Given the description of an element on the screen output the (x, y) to click on. 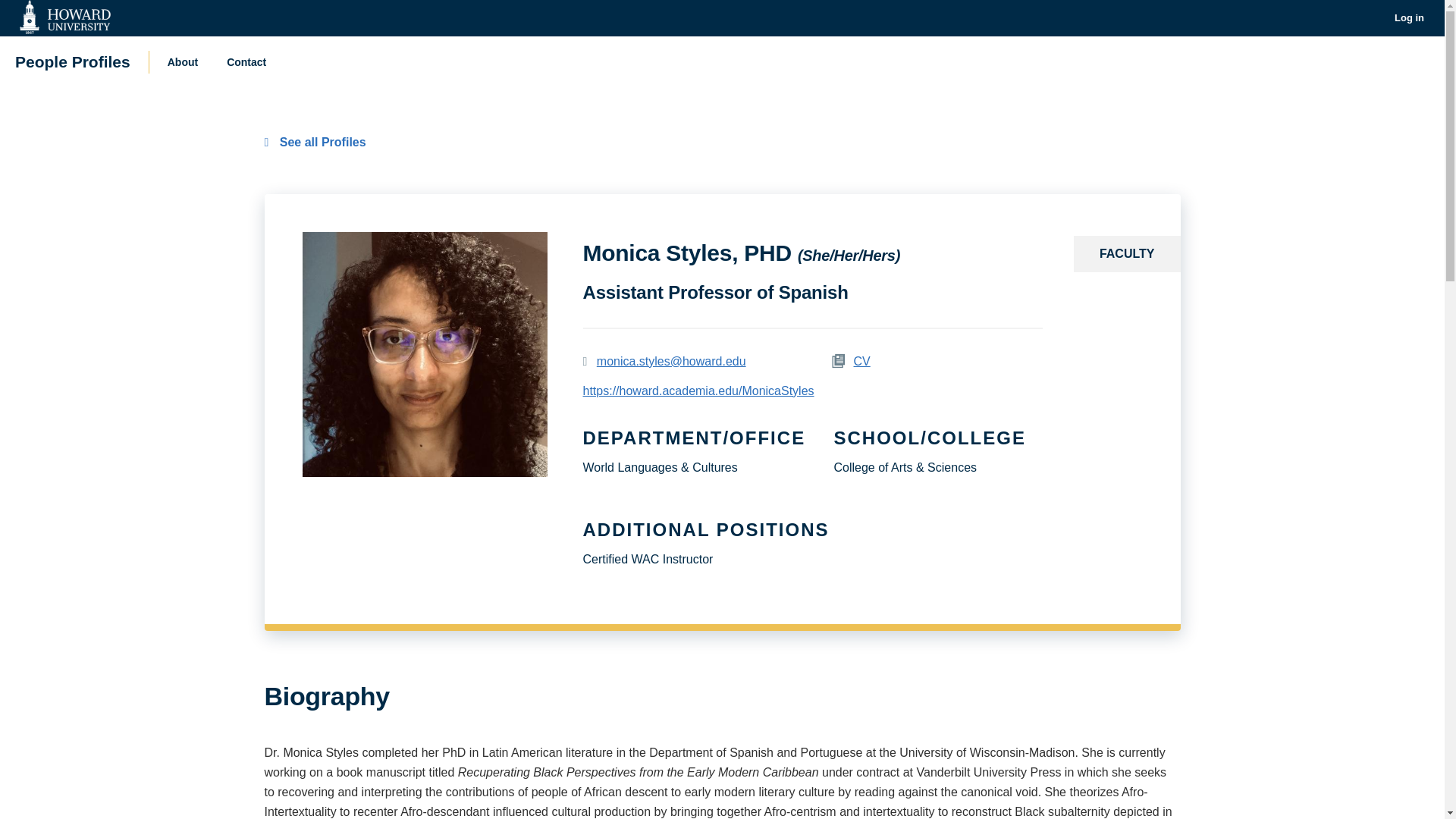
About (182, 61)
Contact (246, 61)
Log in (1409, 17)
People Profiles (72, 61)
See all Profiles (314, 142)
Contact Us (246, 61)
CV (861, 360)
